Given the description of an element on the screen output the (x, y) to click on. 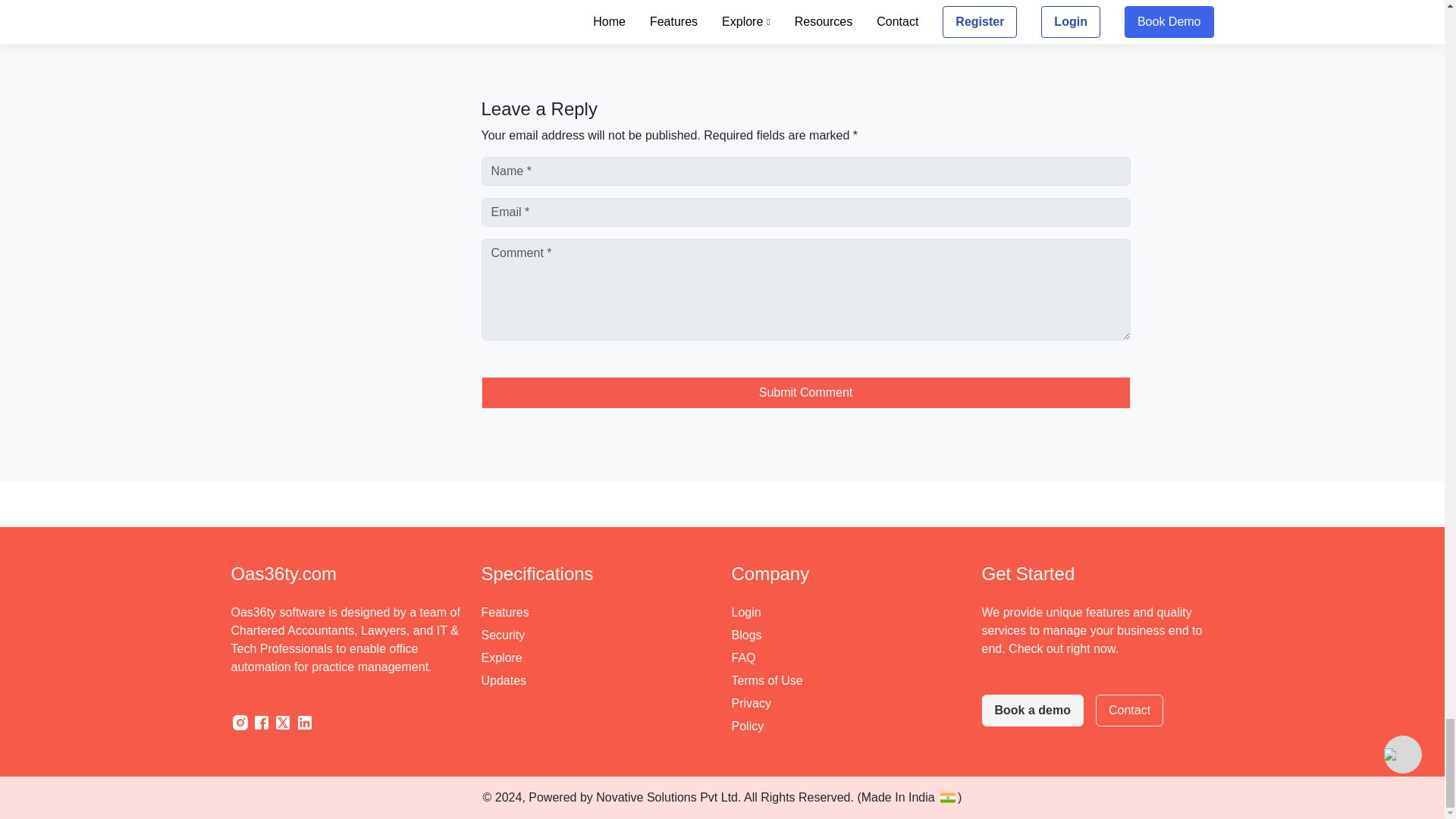
Submit Comment (804, 392)
Explore (500, 659)
Features (504, 613)
Security (502, 636)
